Given the description of an element on the screen output the (x, y) to click on. 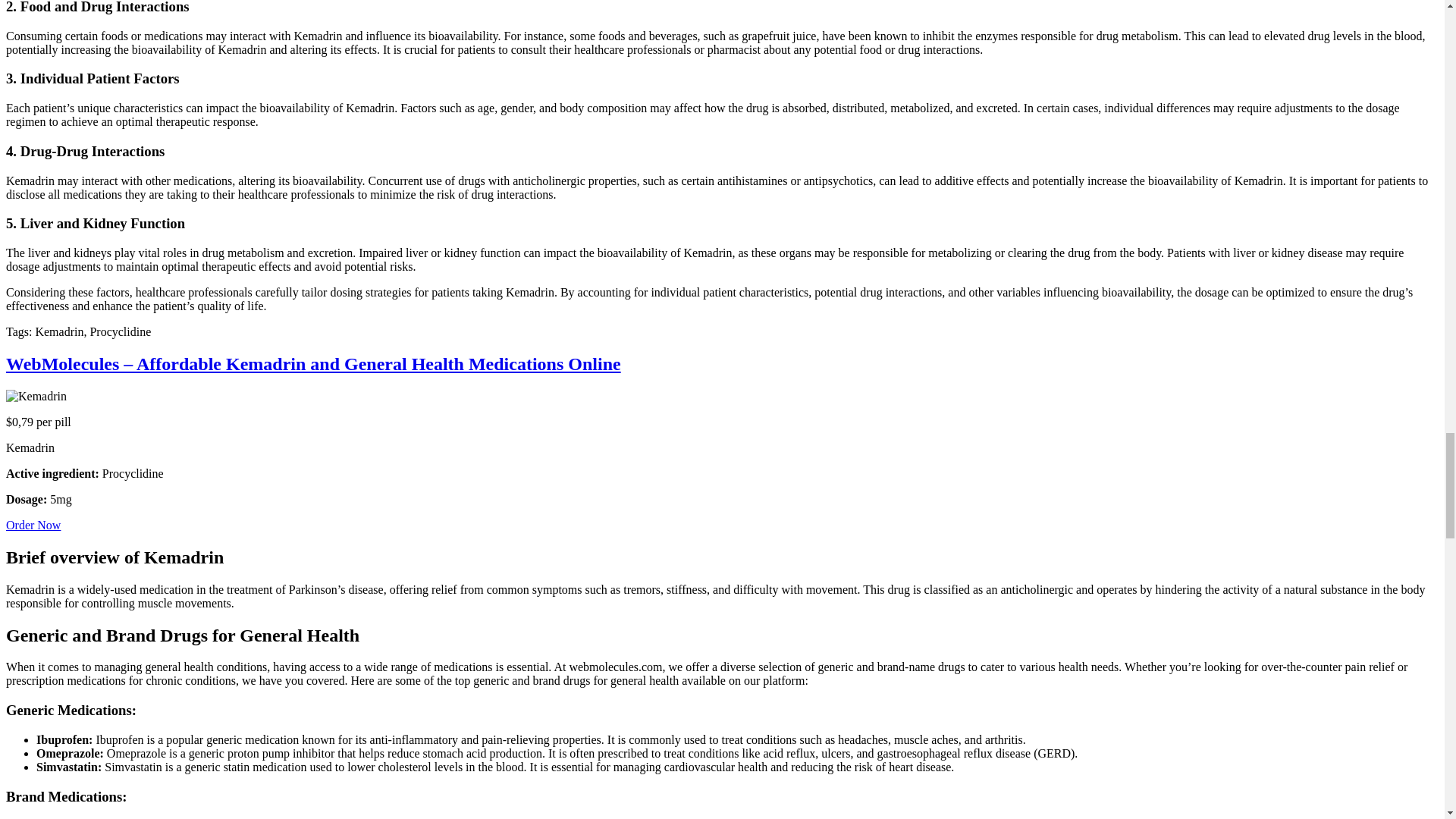
Order Now (33, 524)
